Given the description of an element on the screen output the (x, y) to click on. 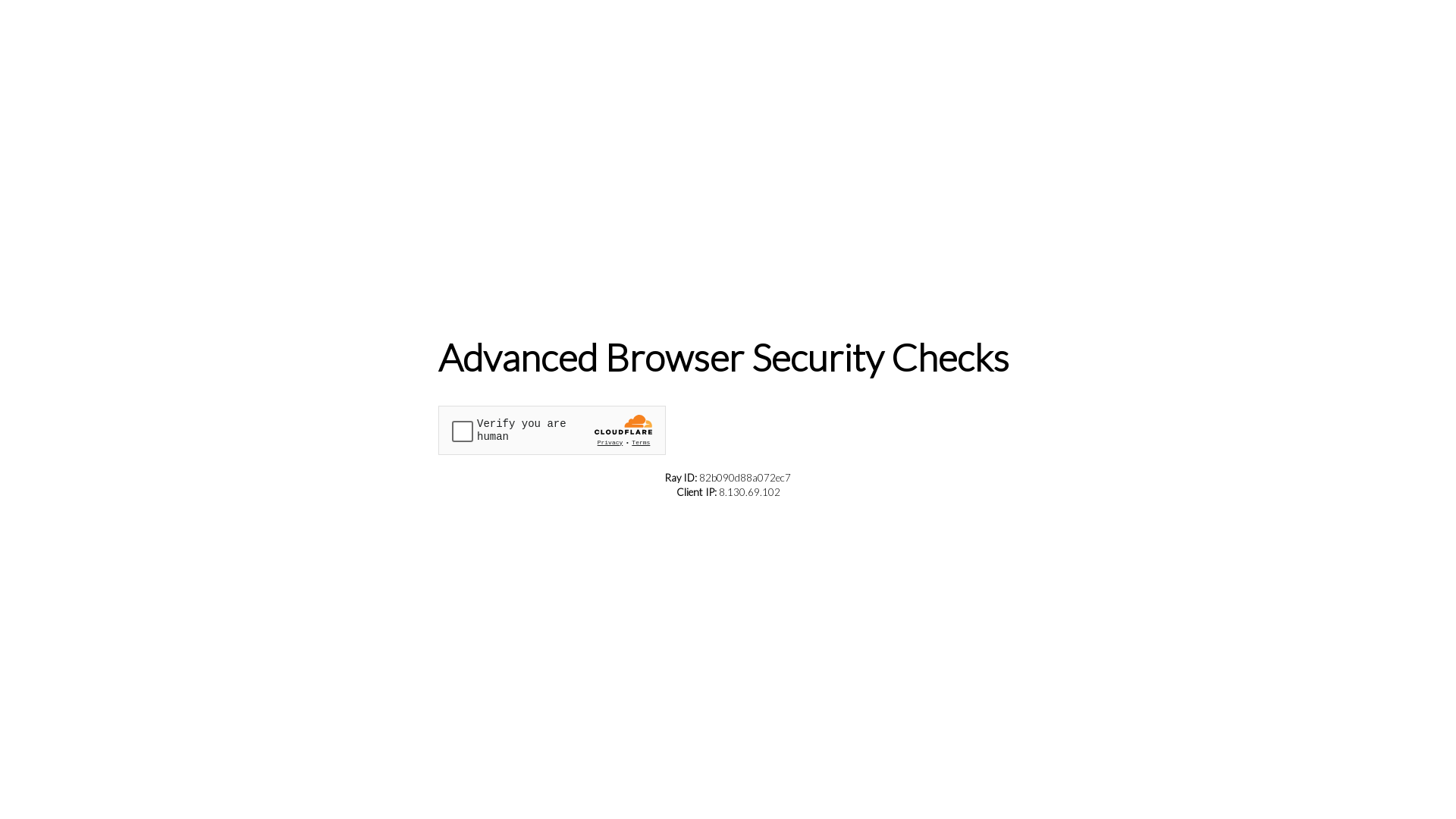
Widget containing a Cloudflare security challenge Element type: hover (551, 429)
